Given the description of an element on the screen output the (x, y) to click on. 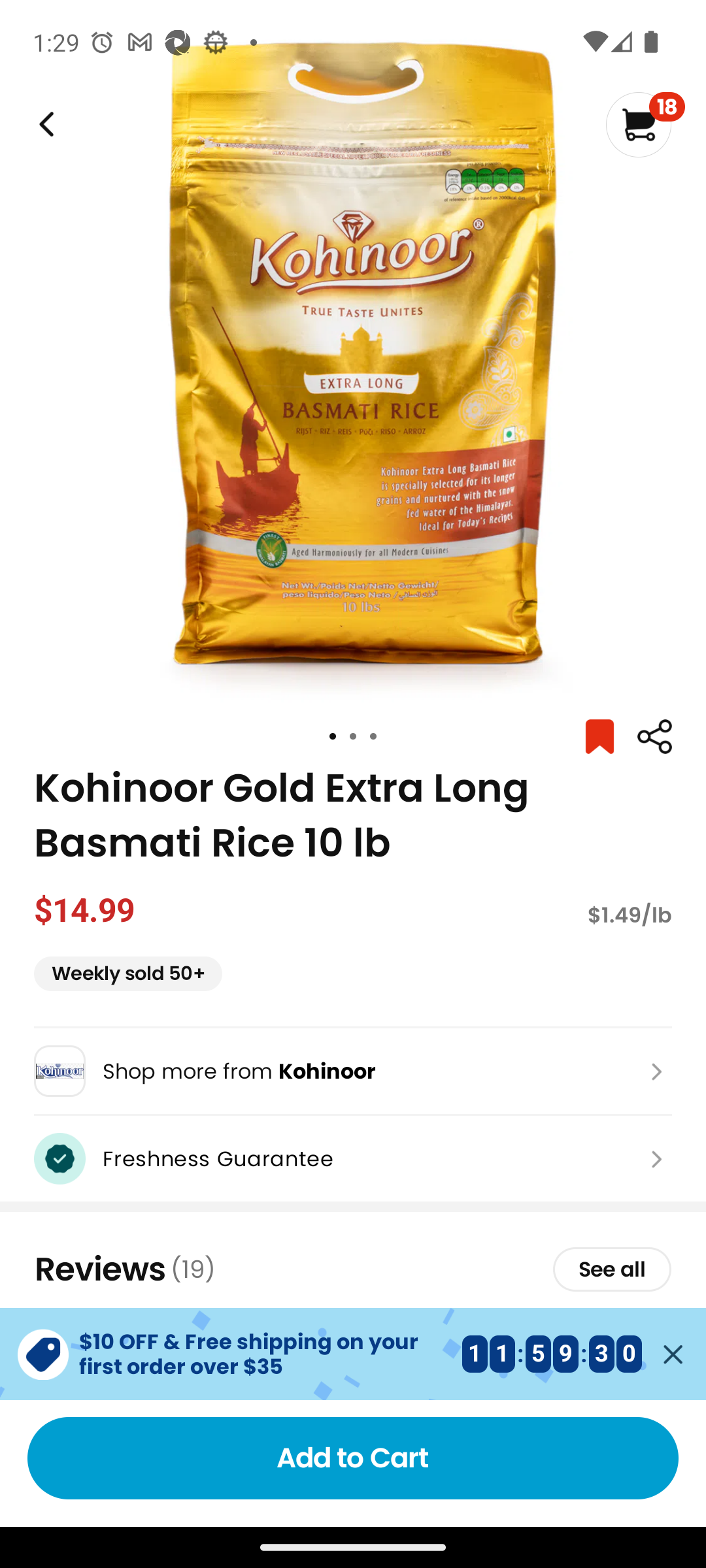
18 (644, 124)
Weee! (45, 124)
Weee! (653, 736)
Shop more from Kohinoor Weee! (352, 1070)
Freshness Guarantee (352, 1158)
Reviews (19) See all (353, 1269)
Add to Cart (352, 1458)
